Given the description of an element on the screen output the (x, y) to click on. 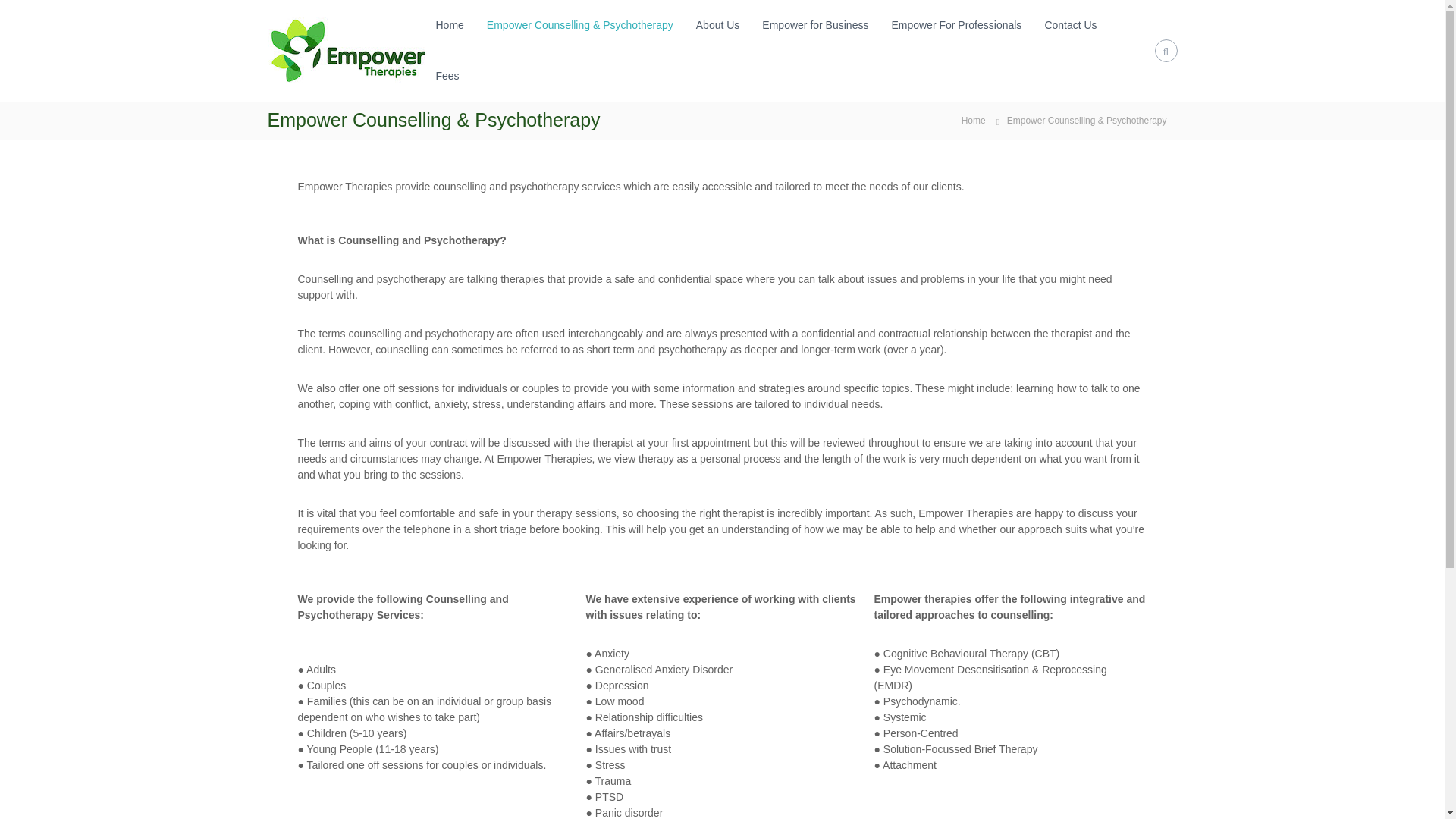
About Us (717, 24)
Empower for Business (814, 24)
Home (972, 119)
Home (449, 24)
Home (972, 119)
Empower For Professionals (956, 24)
Fees (446, 75)
Contact Us (1069, 24)
